Given the description of an element on the screen output the (x, y) to click on. 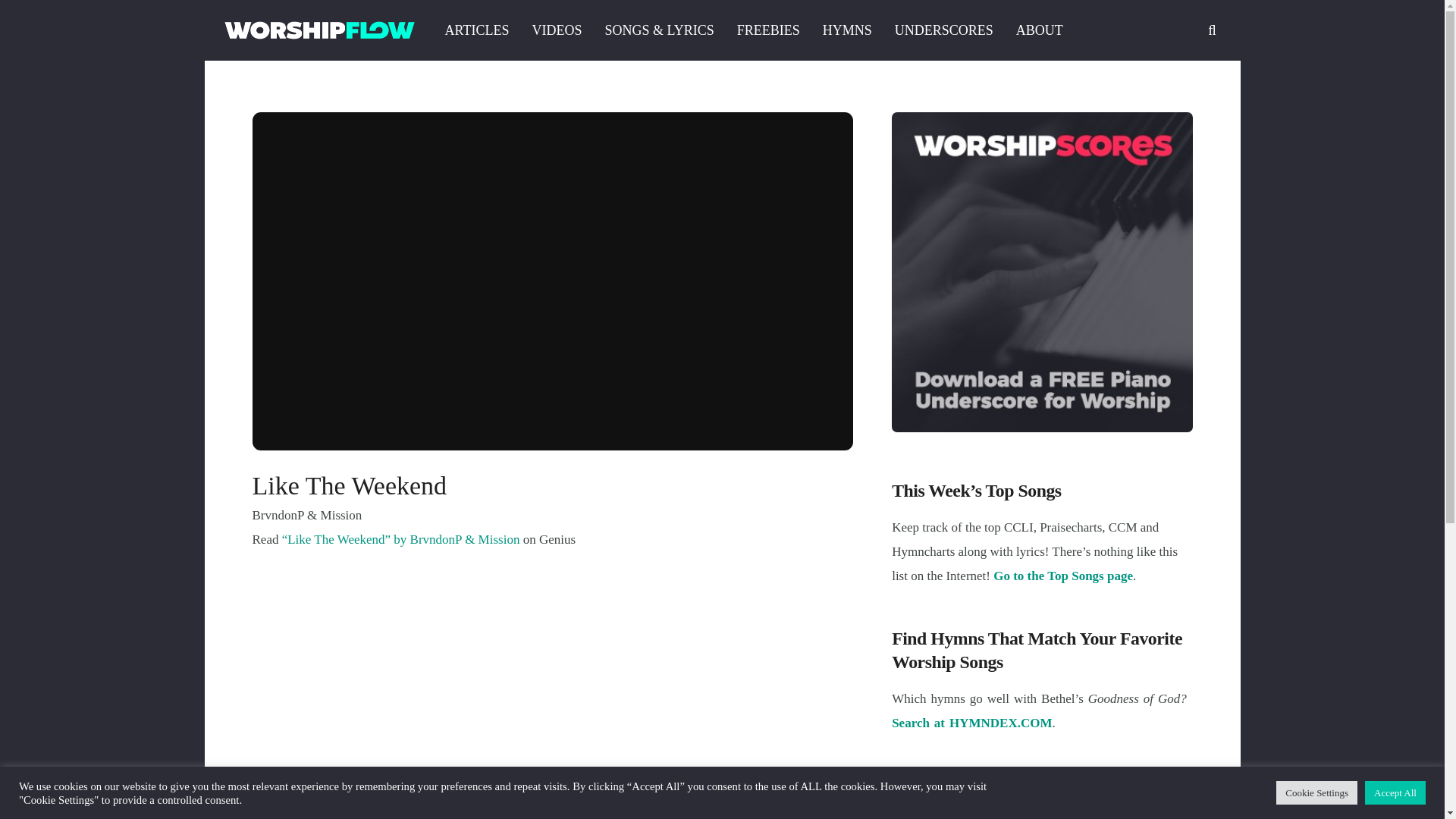
HYMNS (846, 30)
UNDERSCORES (943, 30)
FREEBIES (767, 30)
VIDEOS (555, 30)
Search at HYMNDEX.COM (971, 722)
ABOUT (1039, 30)
Accept All (1395, 792)
Cookie Settings (1316, 792)
ARTICLES (477, 30)
Go to the Top Songs page (1062, 575)
